Given the description of an element on the screen output the (x, y) to click on. 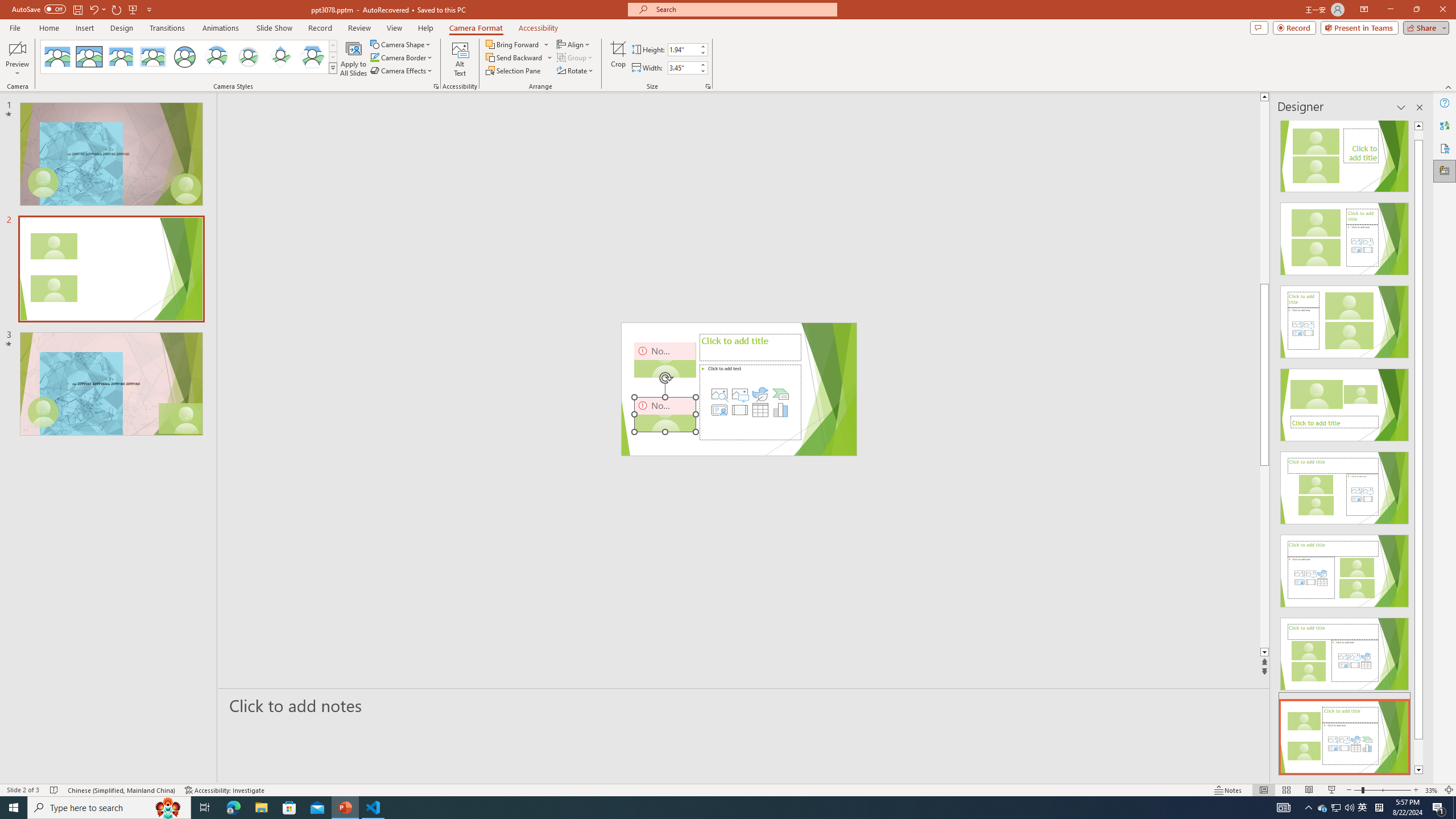
Cameo Width (682, 67)
Cameo Height (682, 49)
Center Shadow Circle (216, 56)
Crop (617, 58)
